Given the description of an element on the screen output the (x, y) to click on. 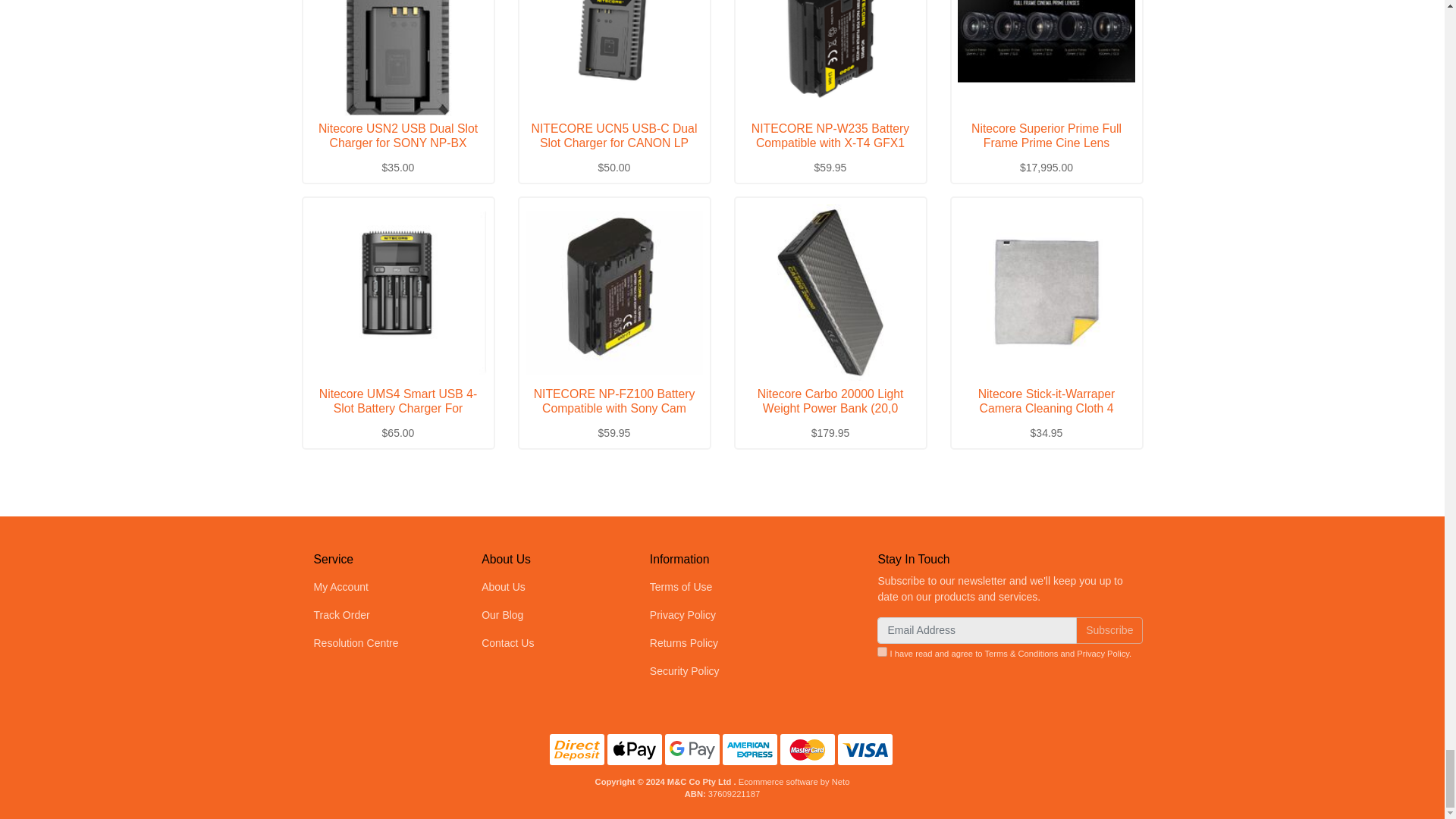
Neto E-commerce Retail Management Platform (794, 781)
y (881, 651)
Subscribe (1108, 629)
